Given the description of an element on the screen output the (x, y) to click on. 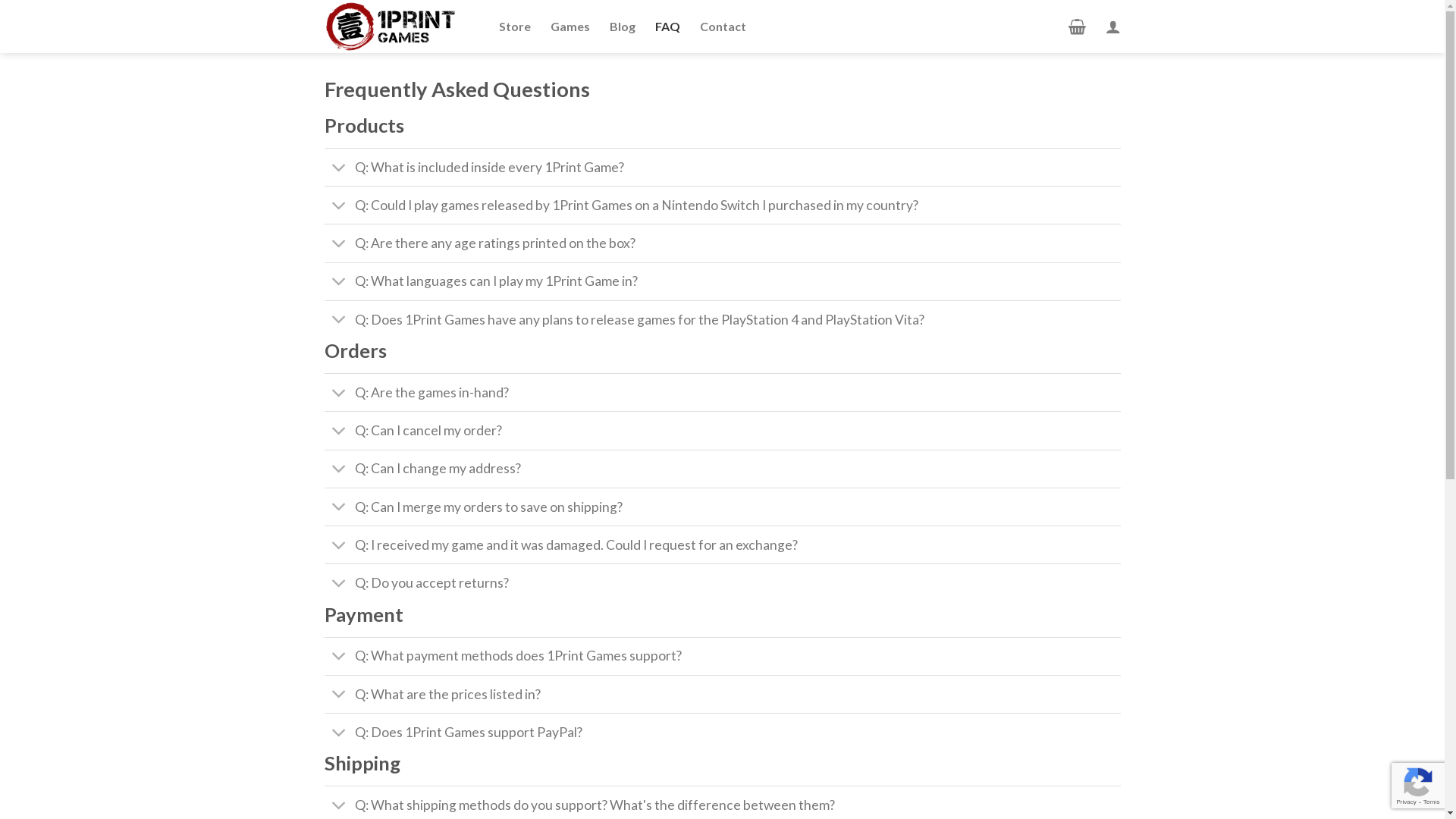
Cart Element type: hover (1076, 26)
Q: Can I cancel my order? Element type: text (722, 429)
1Print Games Element type: hover (400, 26)
Q: What is included inside every 1Print Game? Element type: text (722, 166)
Blog Element type: text (622, 26)
Q: Does 1Print Games support PayPal? Element type: text (722, 731)
Q: What are the prices listed in? Element type: text (722, 693)
Q: Are there any age ratings printed on the box? Element type: text (722, 242)
Q: Are the games in-hand? Element type: text (722, 392)
Q: Can I change my address? Element type: text (722, 468)
Games Element type: text (569, 26)
Store Element type: text (514, 26)
Q: What languages can I play my 1Print Game in? Element type: text (722, 281)
Q: Can I merge my orders to save on shipping? Element type: text (722, 506)
Q: Do you accept returns? Element type: text (722, 582)
FAQ Element type: text (667, 26)
Q: What payment methods does 1Print Games support? Element type: text (722, 655)
Contact Element type: text (722, 26)
